Given the description of an element on the screen output the (x, y) to click on. 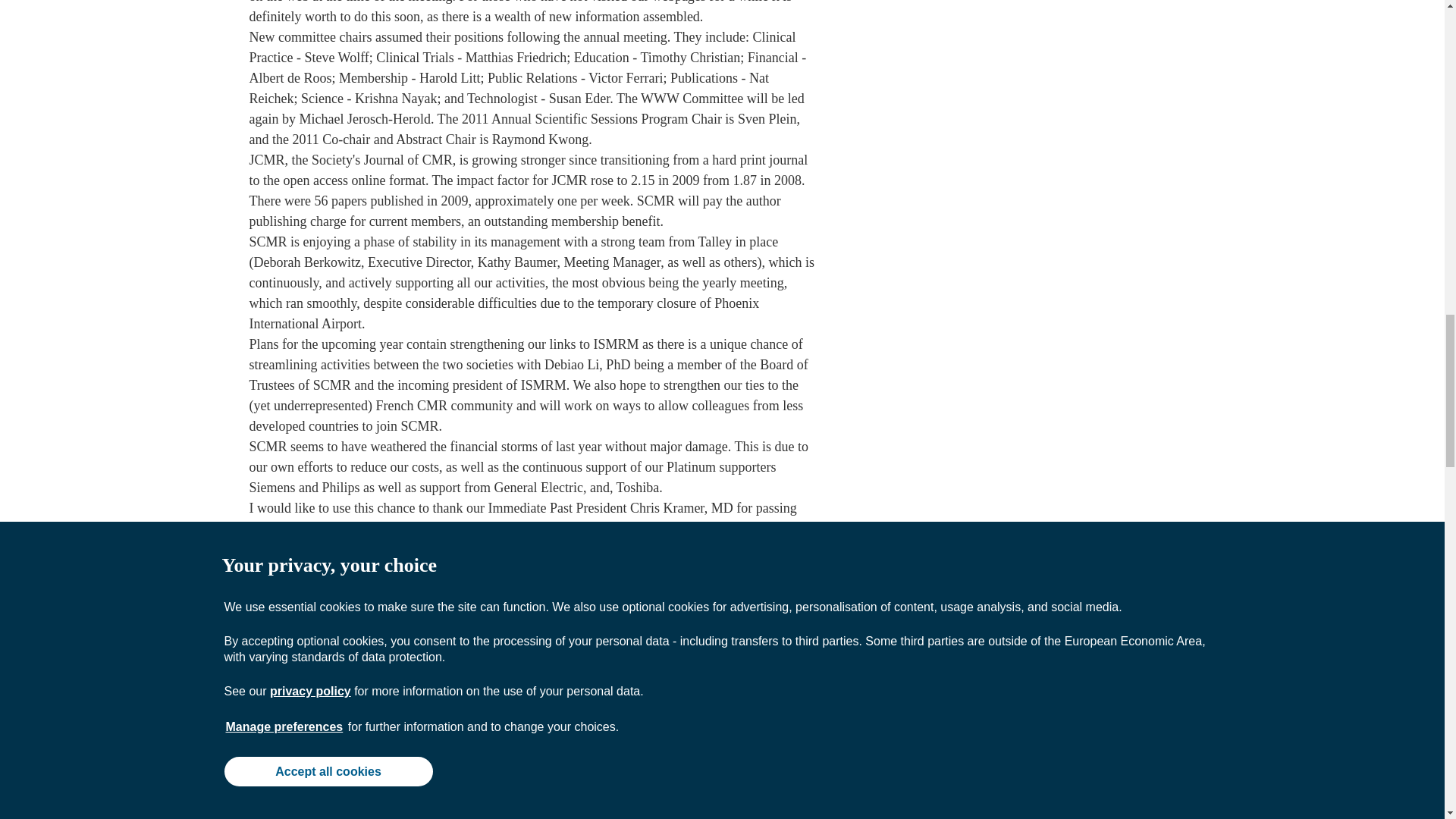
PubMed (689, 810)
PubMed Central (609, 810)
Article (538, 810)
Google Scholar (767, 810)
